Given the description of an element on the screen output the (x, y) to click on. 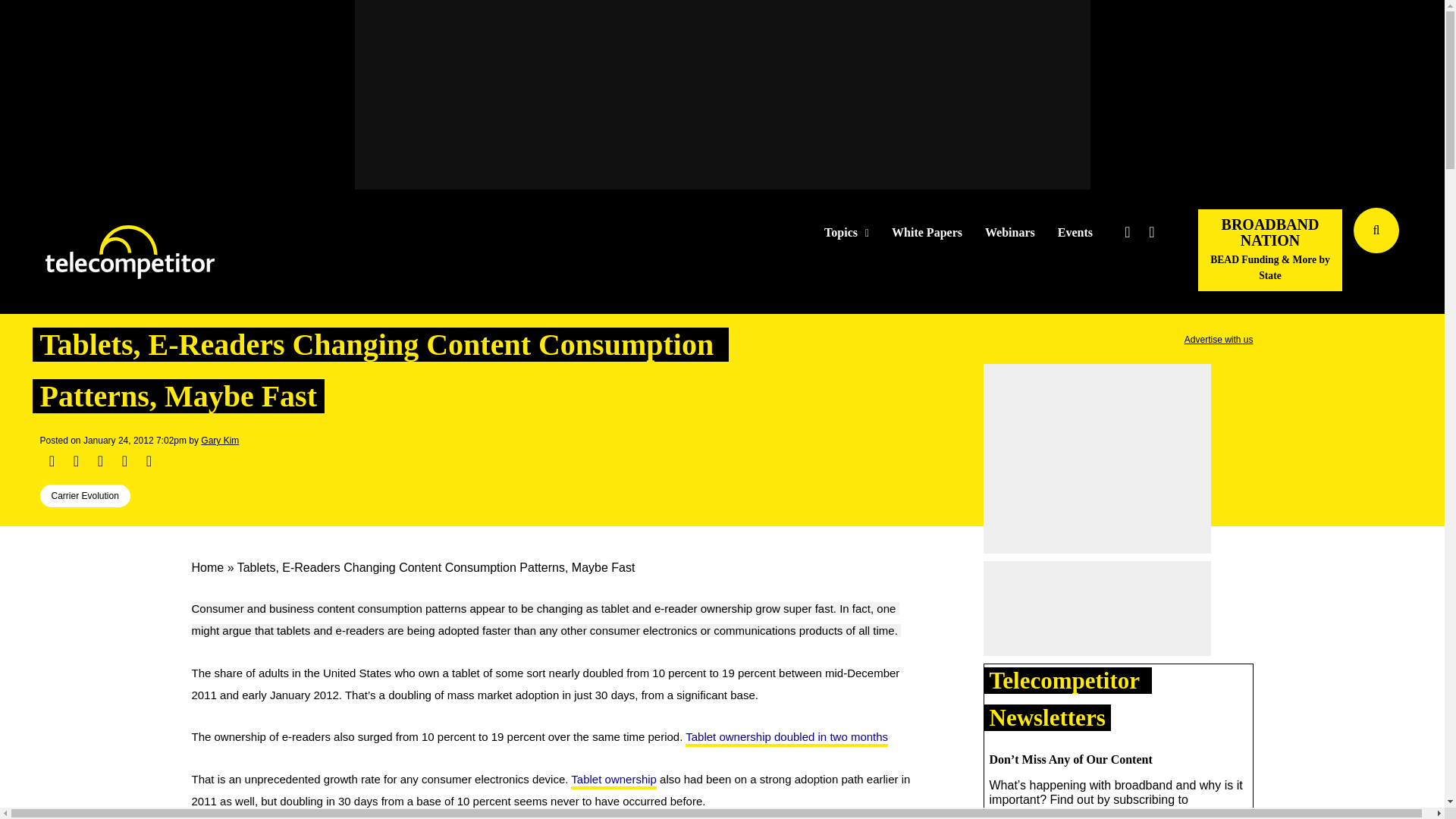
Follow Us on LinkedIN (1151, 232)
Spread the word on Twitter (75, 460)
Events (1074, 232)
Share on Linked In (99, 460)
White Papers (927, 232)
Search (1430, 253)
Topics (846, 232)
Search telecompetitor.com (1376, 230)
Share on Facebook (51, 460)
Webinars (1010, 232)
Follow Us on Twitter (1127, 232)
Pinterest (124, 460)
